Given the description of an element on the screen output the (x, y) to click on. 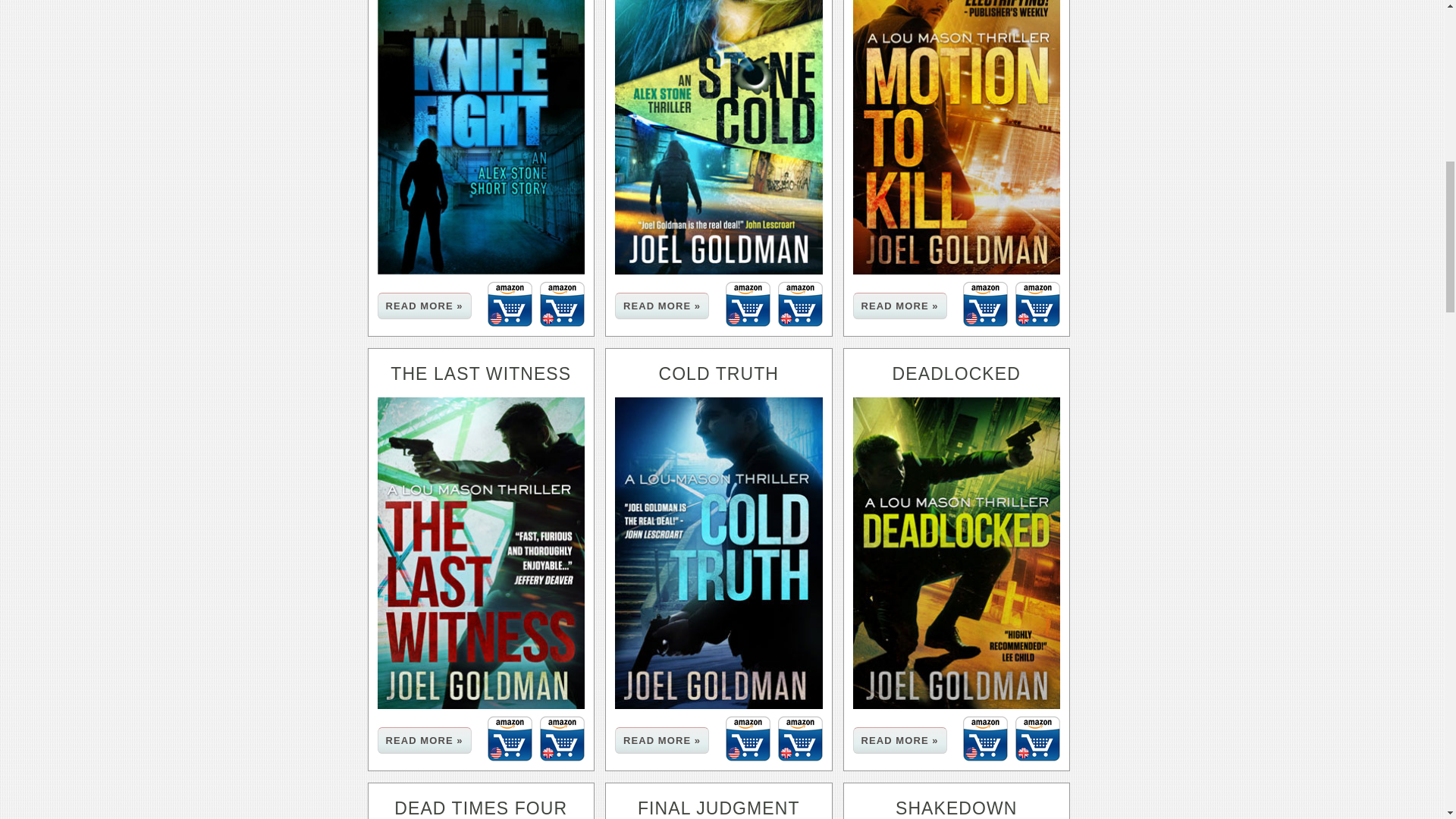
More about Cold Truth (661, 740)
More about Motion to Kill (898, 305)
More about Knife Fight (424, 305)
More about The Last Witness (424, 740)
More about Deadlocked (898, 740)
More about Stone Cold (661, 305)
